Given the description of an element on the screen output the (x, y) to click on. 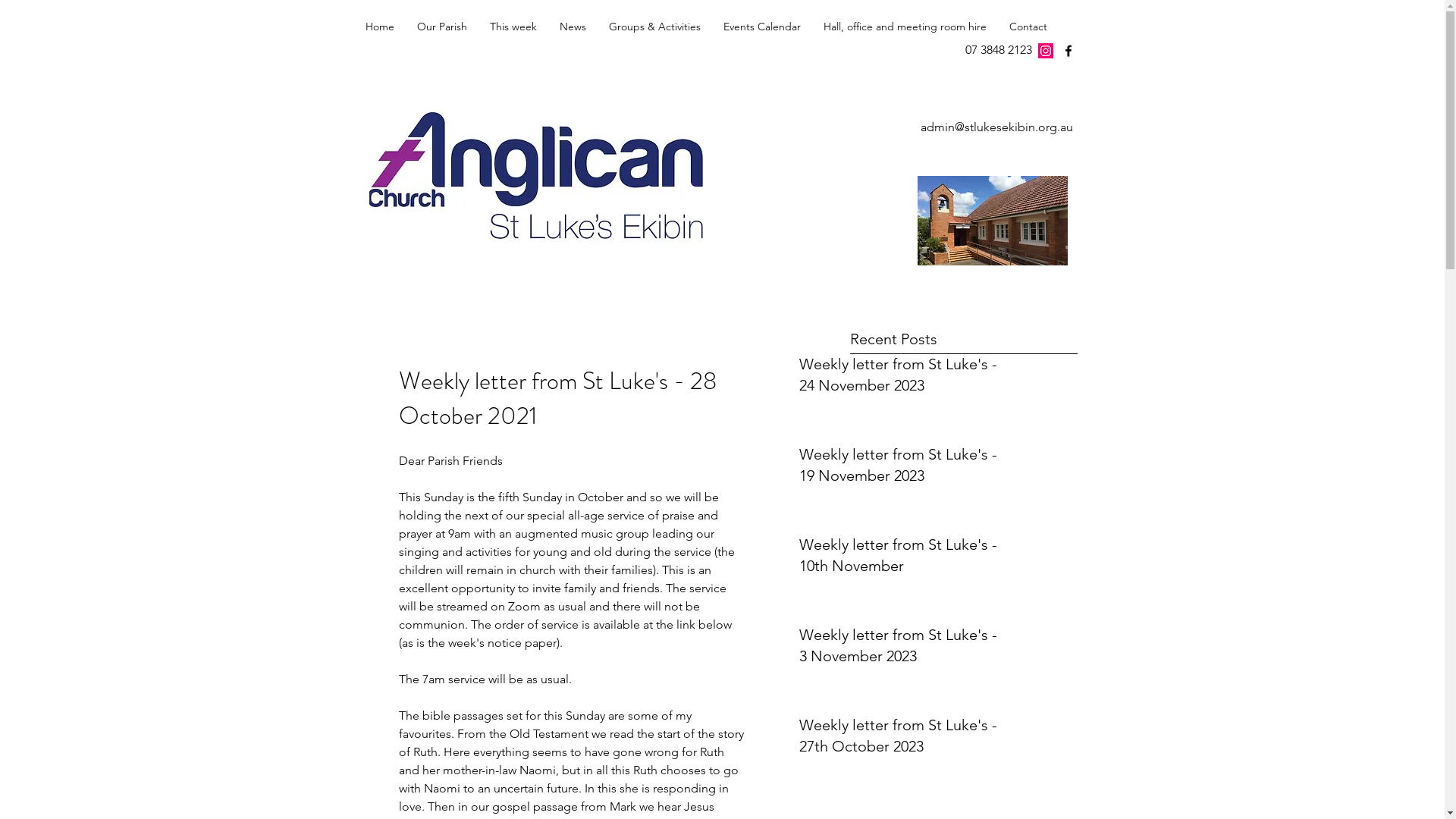
Groups & Activities Element type: text (654, 26)
Weekly letter from St Luke's - 27th October 2023 Element type: text (898, 738)
Weekly letter from St Luke's - 10th November Element type: text (898, 557)
Hall, office and meeting room hire Element type: text (904, 26)
Weekly letter from St Luke's - 3 November 2023 Element type: text (898, 648)
Home Element type: text (378, 26)
admin@stlukesekibin.org.au Element type: text (996, 126)
Weekly letter from St Luke's - 24 November 2023 Element type: text (898, 377)
Events Calendar Element type: text (761, 26)
Contact Element type: text (1027, 26)
Weekly letter from St Luke's - 19 November 2023 Element type: text (898, 467)
Our Parish Element type: text (440, 26)
